Given the description of an element on the screen output the (x, y) to click on. 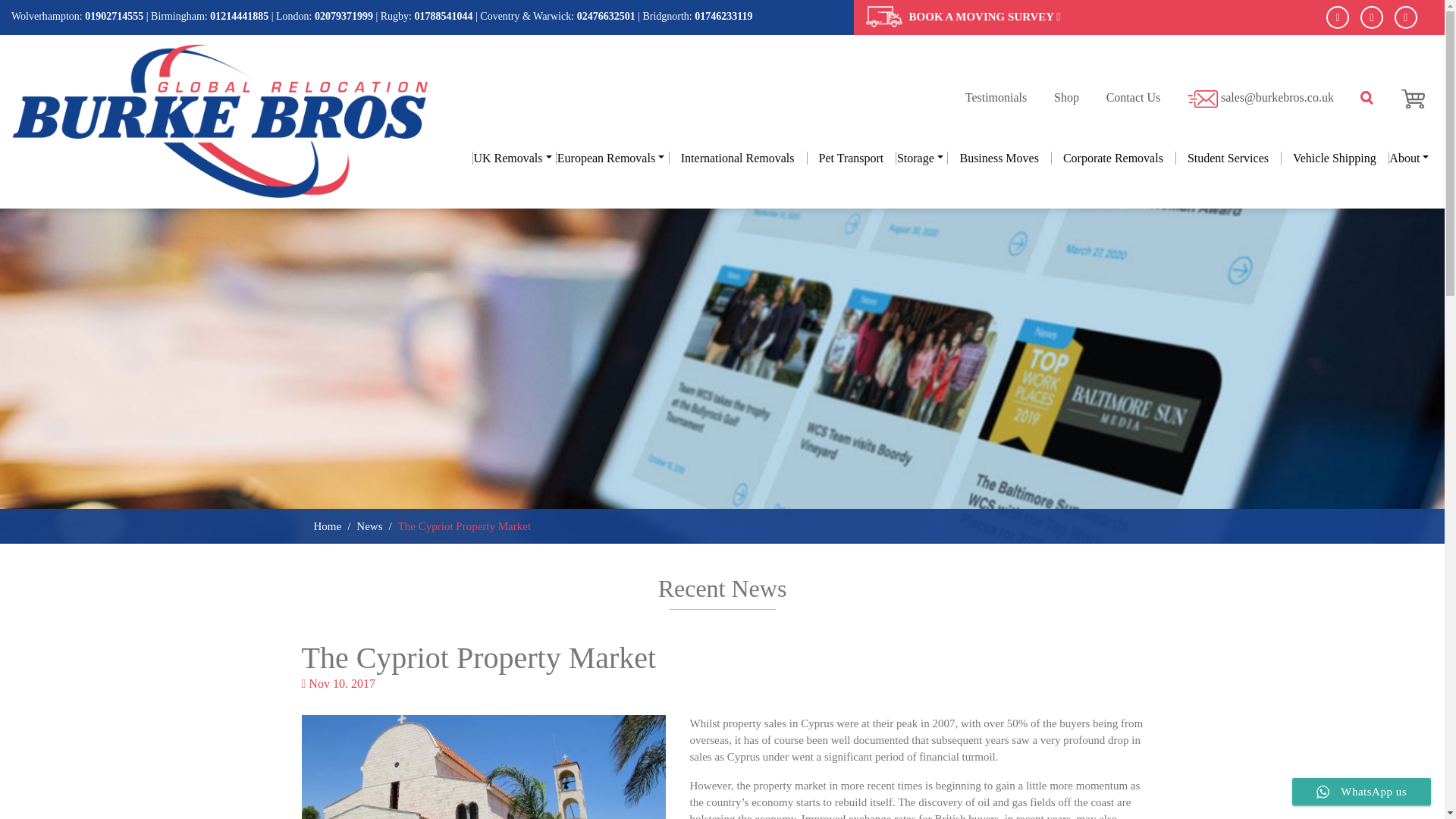
01214441885 (238, 16)
02079371999 (343, 16)
01902714555 (113, 16)
Contact Us (1133, 97)
02476632501 (605, 16)
Testimonials (996, 97)
Shop (1066, 97)
01746233119 (723, 16)
BOOK A MOVING SURVEY (984, 16)
European Removals (612, 158)
01788541044 (442, 16)
UK Removals (513, 158)
